Given the description of an element on the screen output the (x, y) to click on. 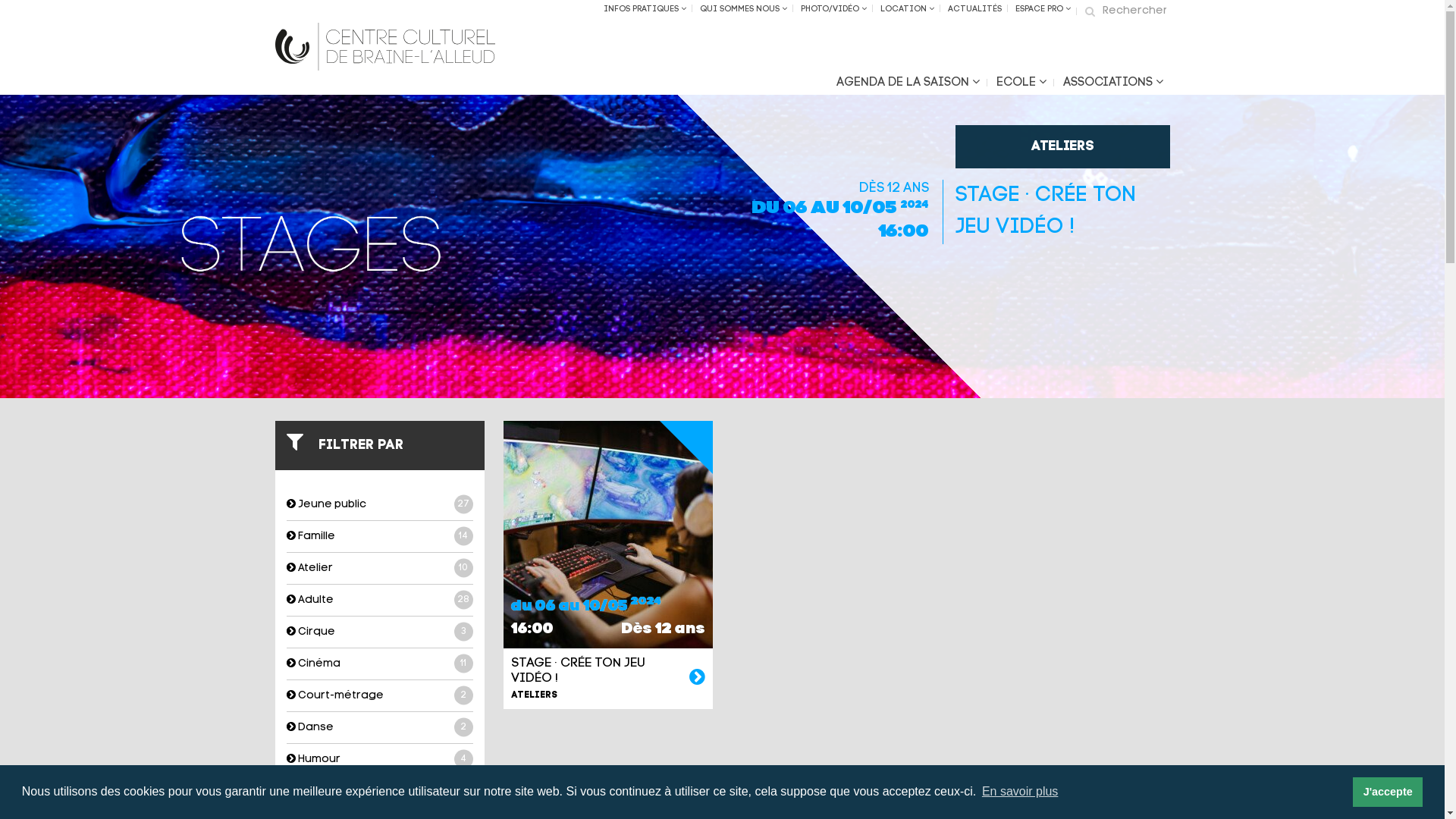
Page d'accueil Element type: hover (384, 46)
En savoir plus Element type: text (1019, 791)
INFOS PRATIQUES Element type: text (643, 9)
ESPACE PRO Element type: text (1043, 9)
AGENDA DE LA SAISON Element type: text (907, 82)
Famille
14 Element type: text (379, 536)
Atelier
10 Element type: text (379, 567)
J'accepte Element type: text (1387, 791)
ASSOCIATIONS Element type: text (1112, 82)
Cirque
3 Element type: text (379, 631)
ECOLE Element type: text (1020, 82)
Jeune public
27 Element type: text (379, 504)
Adulte
28 Element type: text (379, 599)
Danse
2 Element type: text (379, 727)
Humour
4 Element type: text (379, 759)
En savoir plus Element type: hover (697, 678)
LOCATION Element type: text (907, 9)
Musique
12 Element type: text (379, 790)
QUI SOMMES NOUS Element type: text (743, 9)
